Given the description of an element on the screen output the (x, y) to click on. 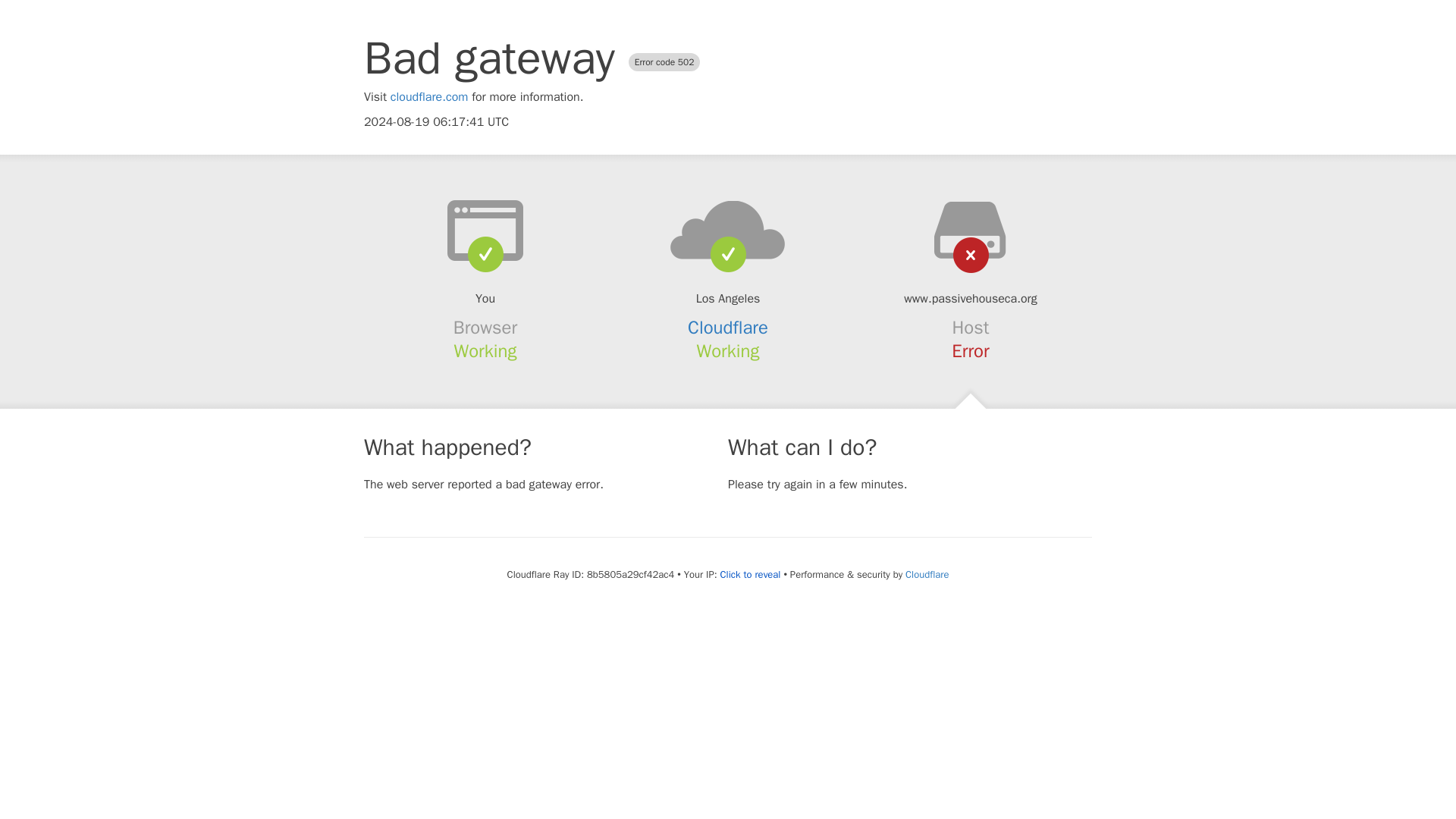
cloudflare.com (429, 96)
Click to reveal (750, 574)
Cloudflare (927, 574)
Cloudflare (727, 327)
